Given the description of an element on the screen output the (x, y) to click on. 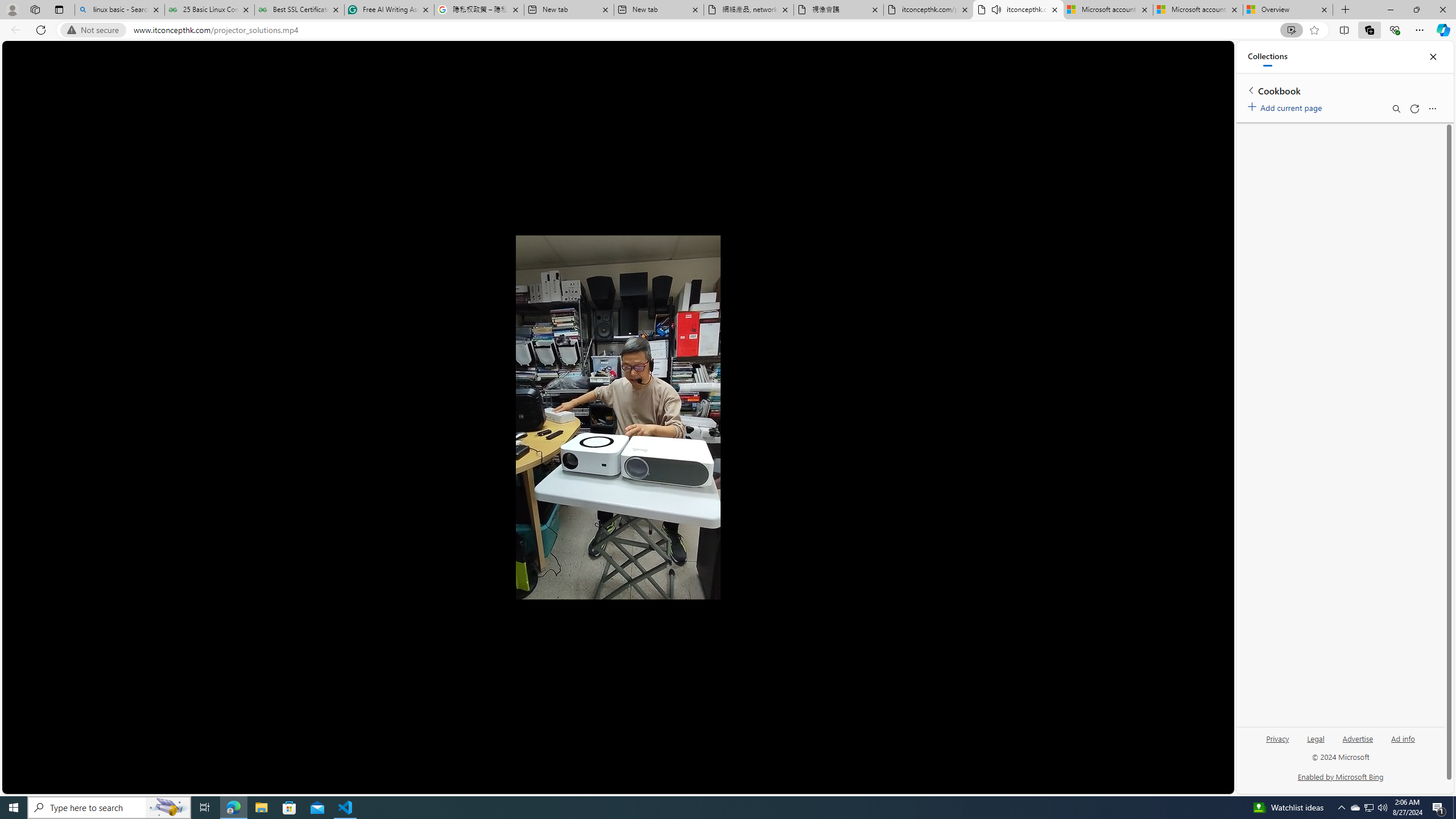
itconcepthk.com/projector_solutions.mp4 - Audio playing (1018, 9)
Back to list of collections (1250, 90)
Not secure (95, 29)
linux basic - Search (118, 9)
